Given the description of an element on the screen output the (x, y) to click on. 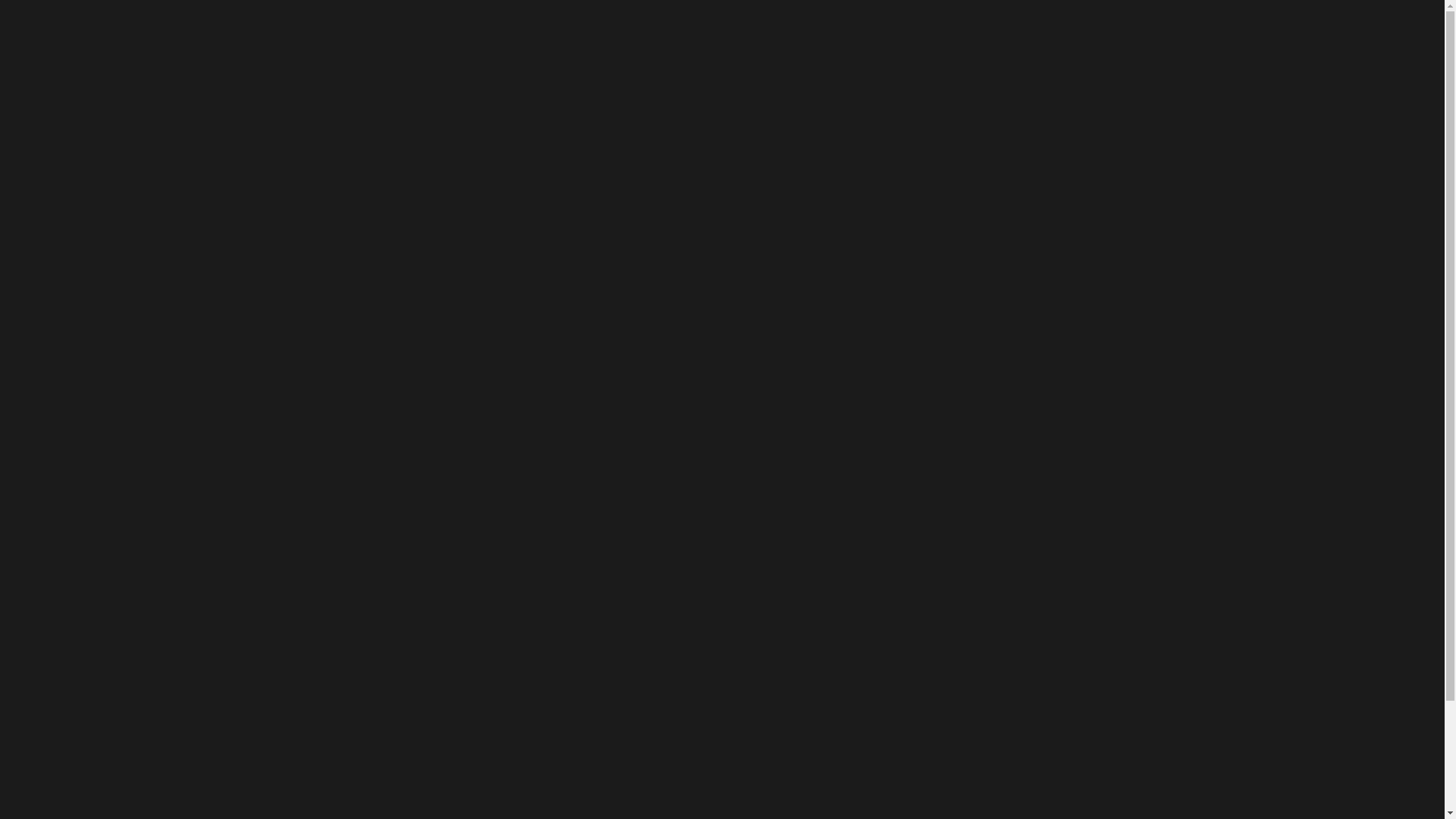
UMCS e.V. Element type: text (839, 60)
Suchen Element type: text (446, 348)
Shorty Element type: hover (824, 417)
Facebook Element type: hover (1304, 16)
Aktuelles Element type: text (922, 60)
Instagram Element type: hover (1338, 16)
Home Element type: text (701, 225)
YouTube Element type: hover (1371, 16)
Datenschutz Element type: text (1229, 60)
Team Element type: text (991, 60)
mail Element type: hover (1404, 16)
Kontakt Element type: text (1056, 60)
Impressum Element type: text (1136, 60)
